Given the description of an element on the screen output the (x, y) to click on. 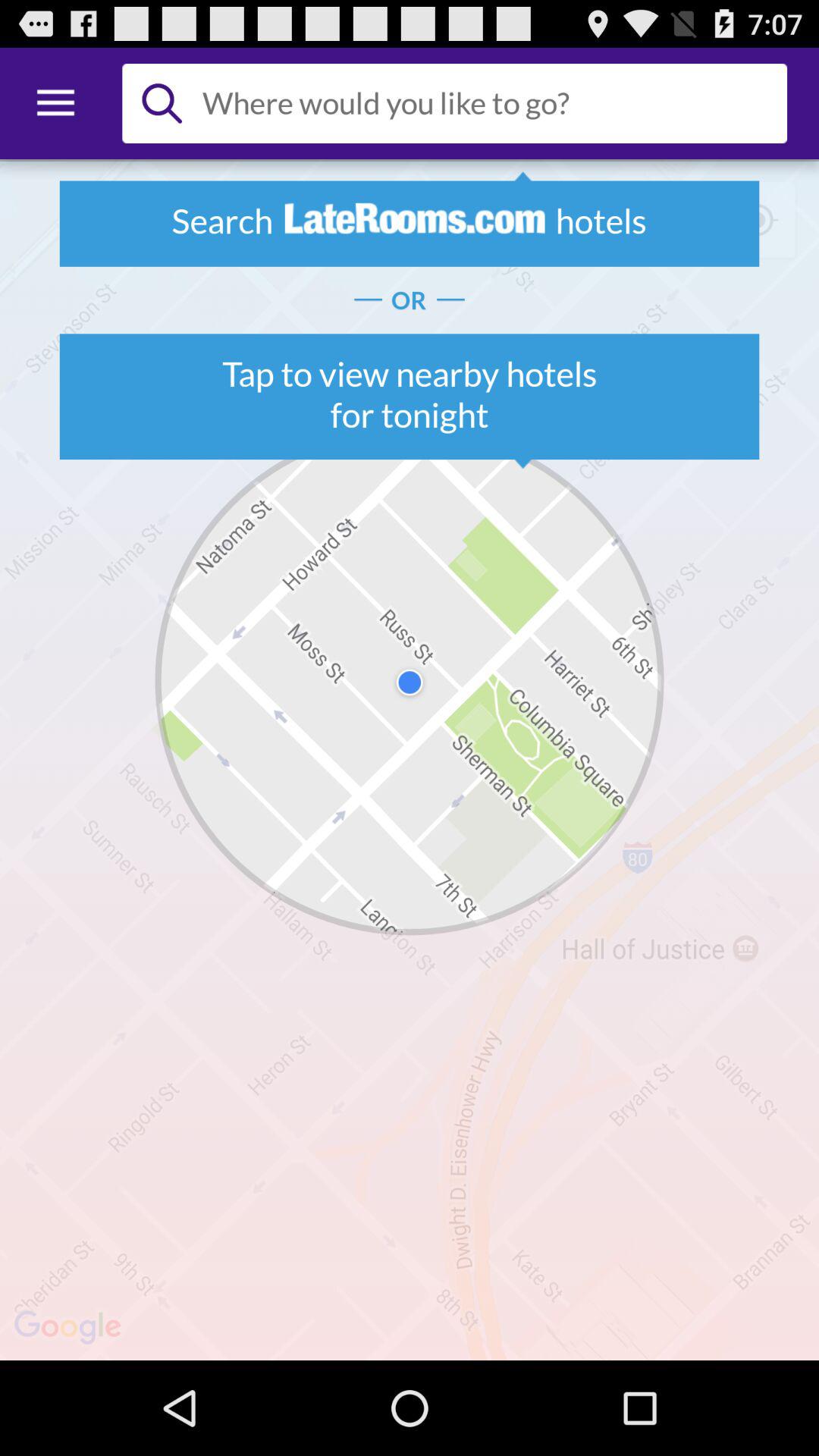
area search (489, 103)
